Given the description of an element on the screen output the (x, y) to click on. 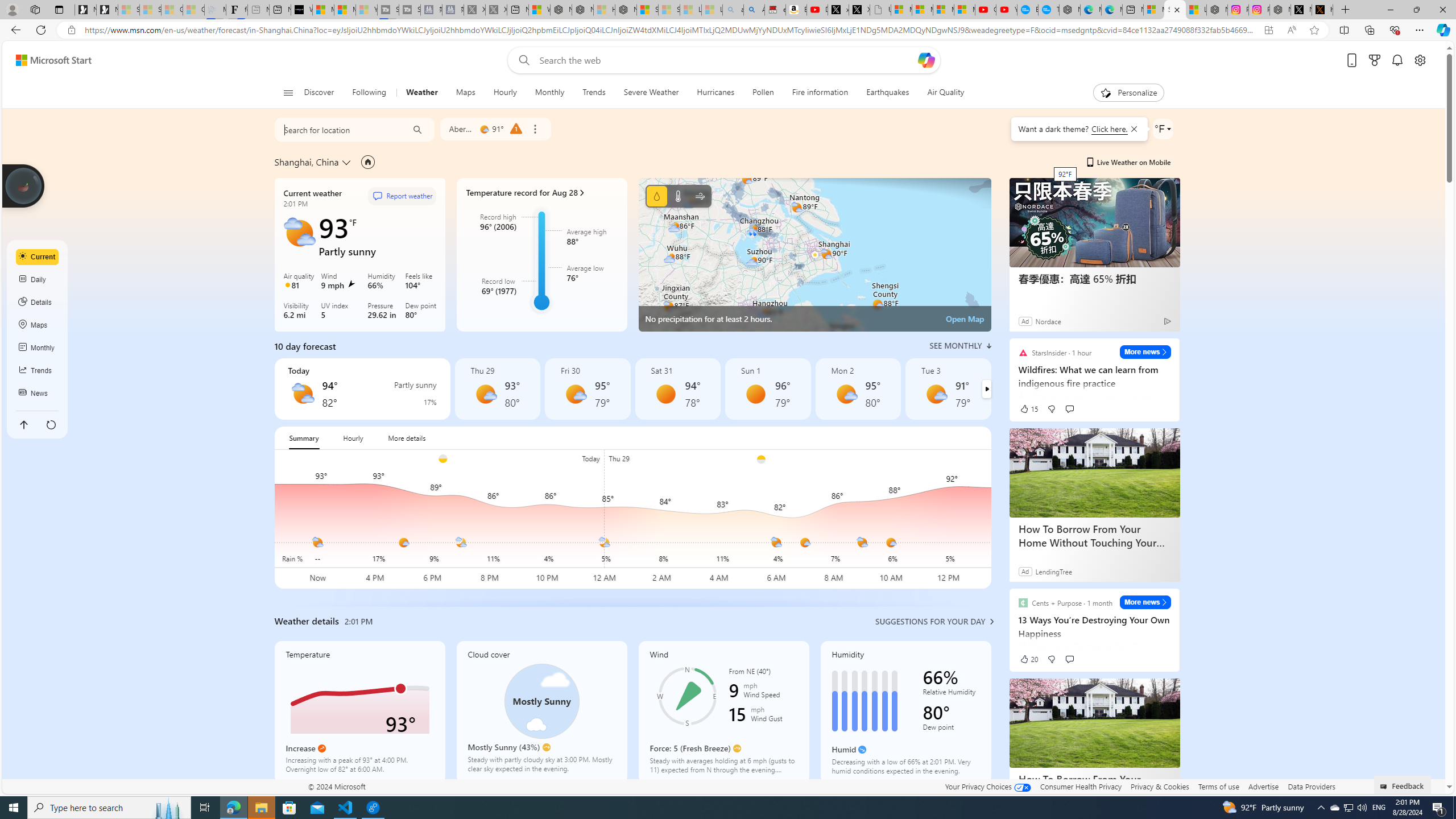
Fire information (820, 92)
Weather settings Want a dark theme?Click here. (1162, 128)
Temperature (359, 711)
Hourly (352, 437)
